Given the description of an element on the screen output the (x, y) to click on. 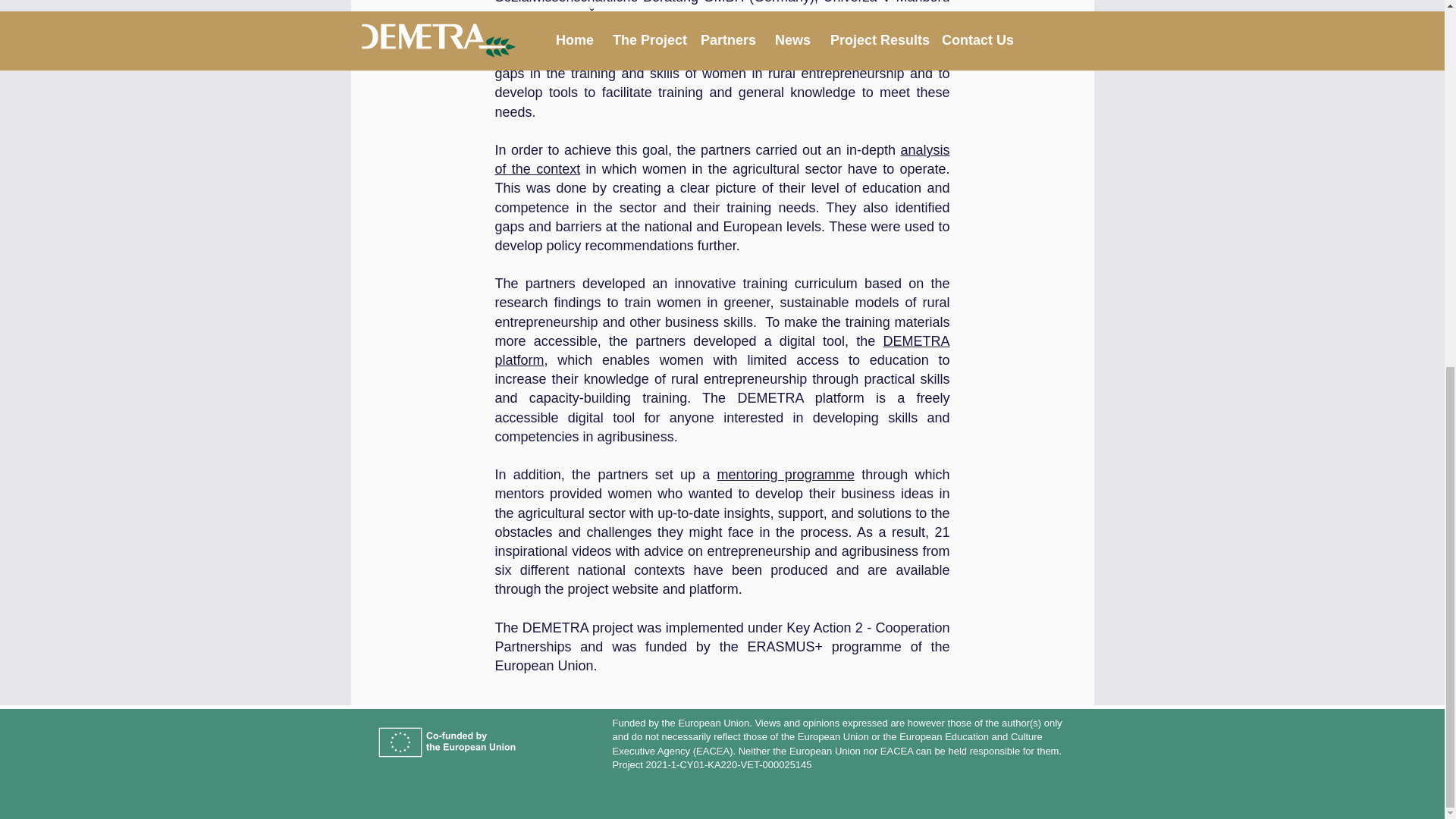
eu.jpg (451, 743)
mentoring programme (785, 474)
analysis of the context (722, 159)
DEMETRA platform (722, 350)
